Given the description of an element on the screen output the (x, y) to click on. 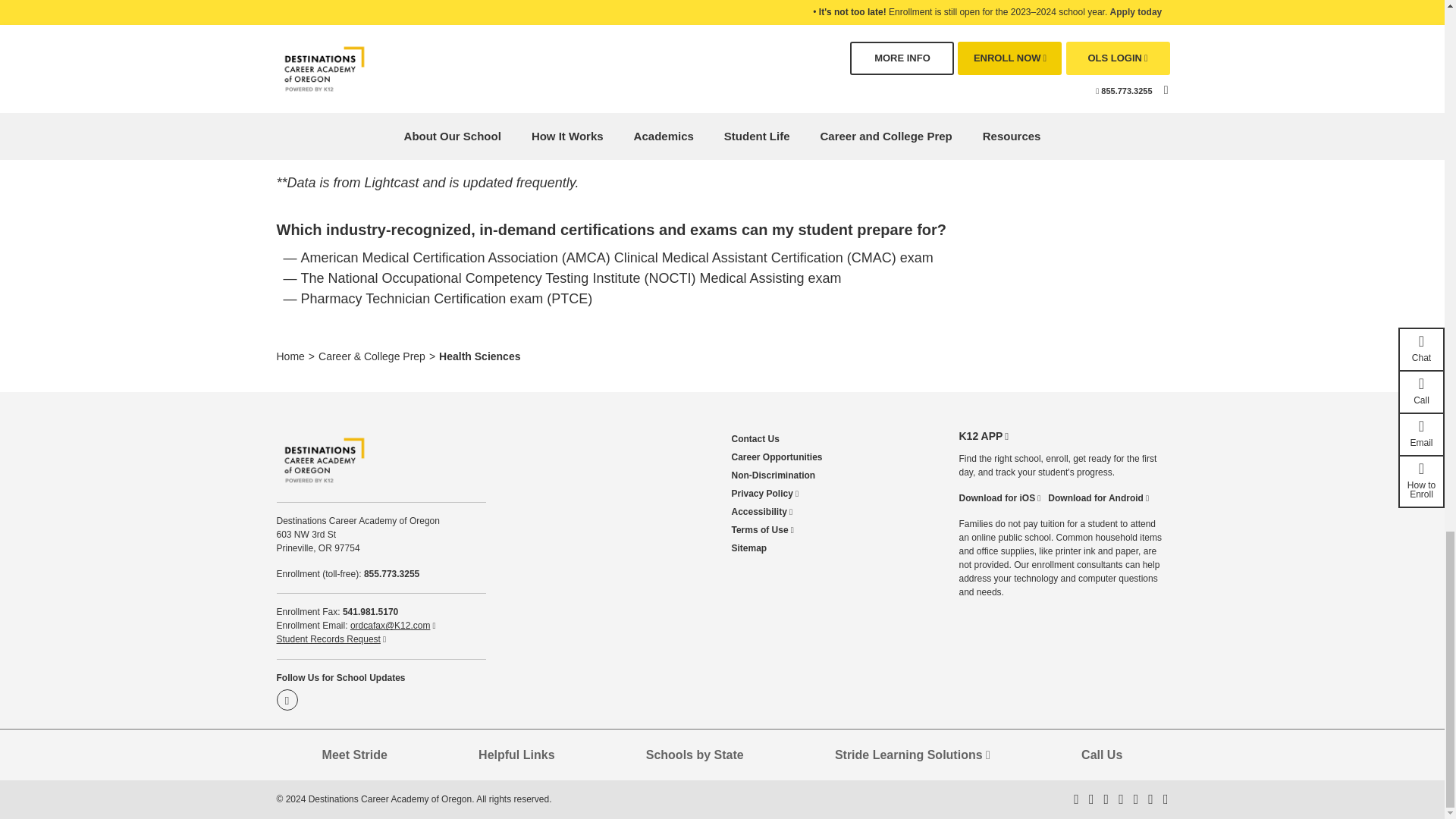
k12 title (721, 77)
Home (290, 356)
